Given the description of an element on the screen output the (x, y) to click on. 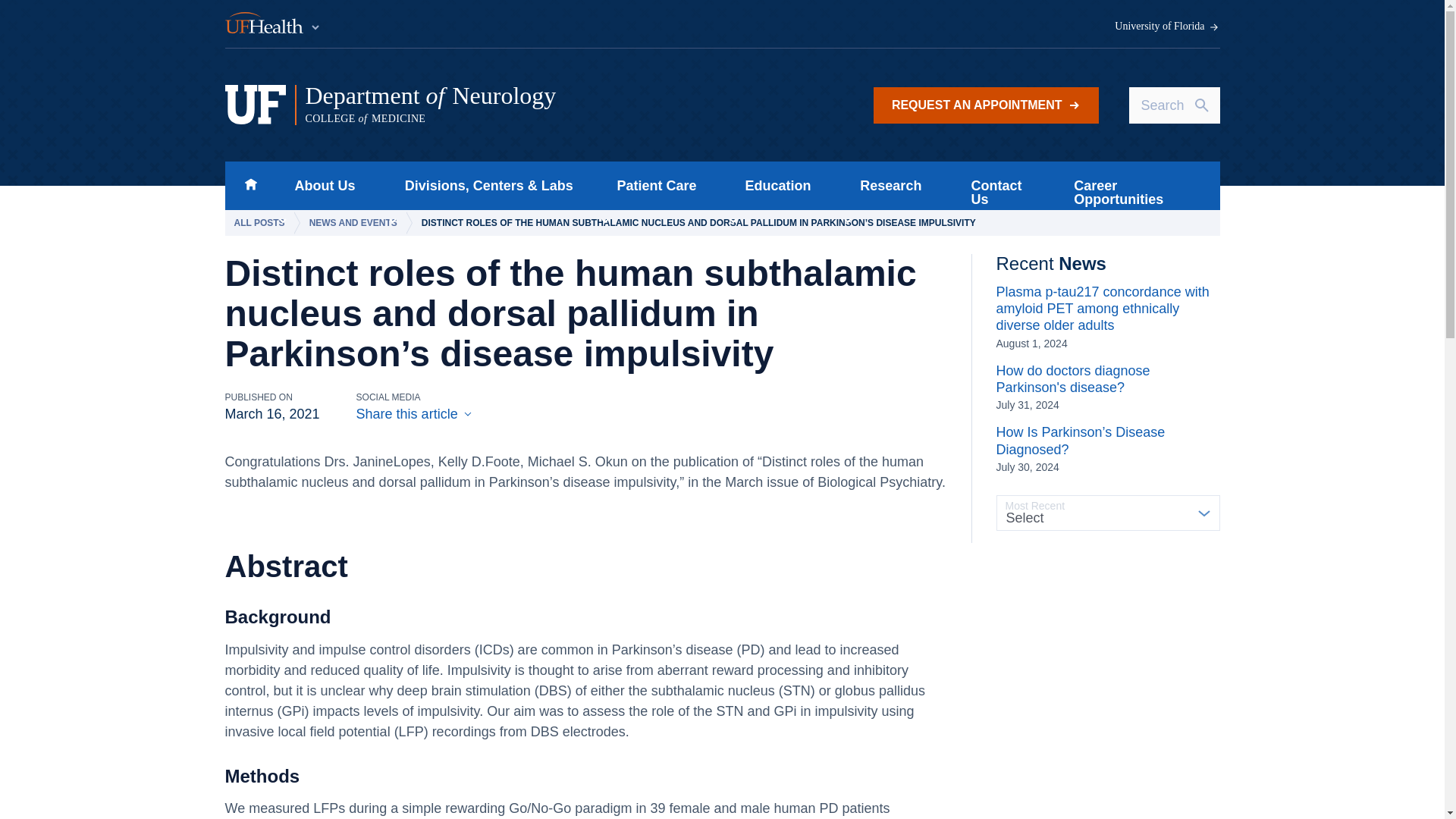
Patient Care (652, 185)
Skip to main content (515, 105)
Home (320, 185)
REQUEST AN APPOINTMENT (250, 185)
Skip to main content (986, 104)
University of Florida (272, 24)
